Given the description of an element on the screen output the (x, y) to click on. 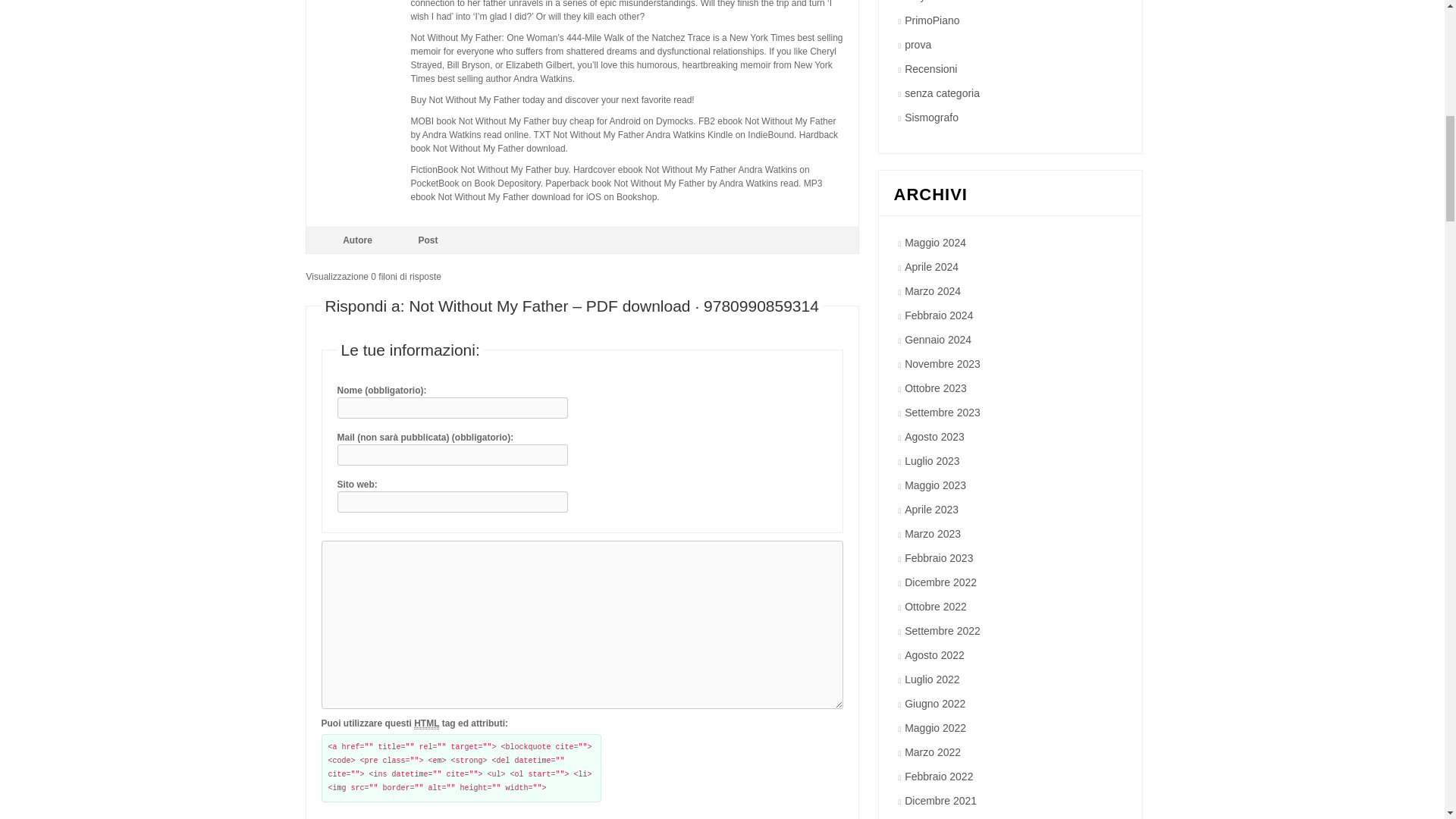
Playtime (924, 1)
PrimoPiano (931, 20)
prova (917, 44)
HyperText Markup Language (426, 723)
